Given the description of an element on the screen output the (x, y) to click on. 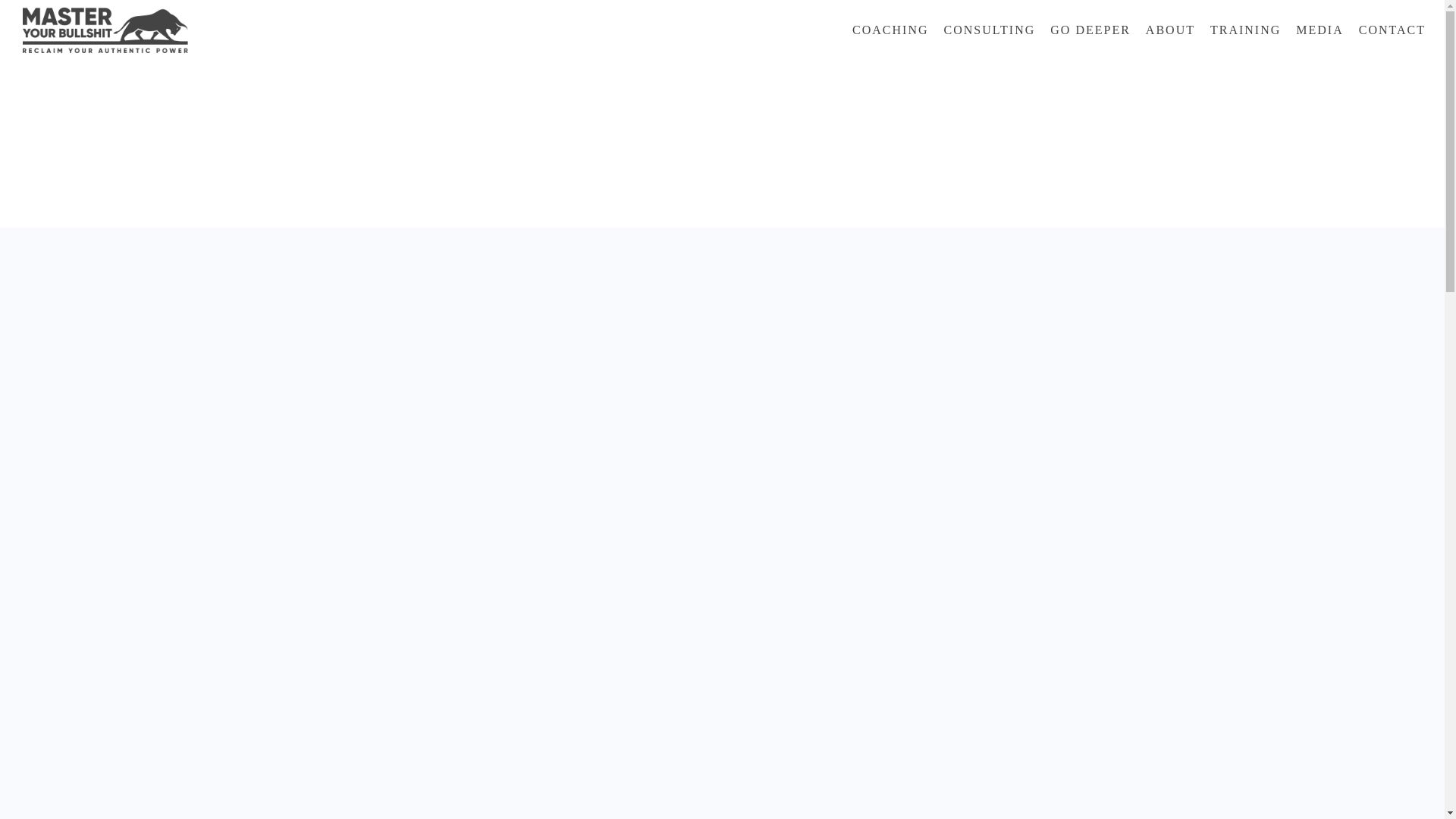
MEDIA (1319, 30)
CONTACT (1390, 30)
GO DEEPER (1090, 30)
COACHING (889, 30)
TRAINING (1245, 30)
CONSULTING (989, 30)
ABOUT (1169, 30)
